Given the description of an element on the screen output the (x, y) to click on. 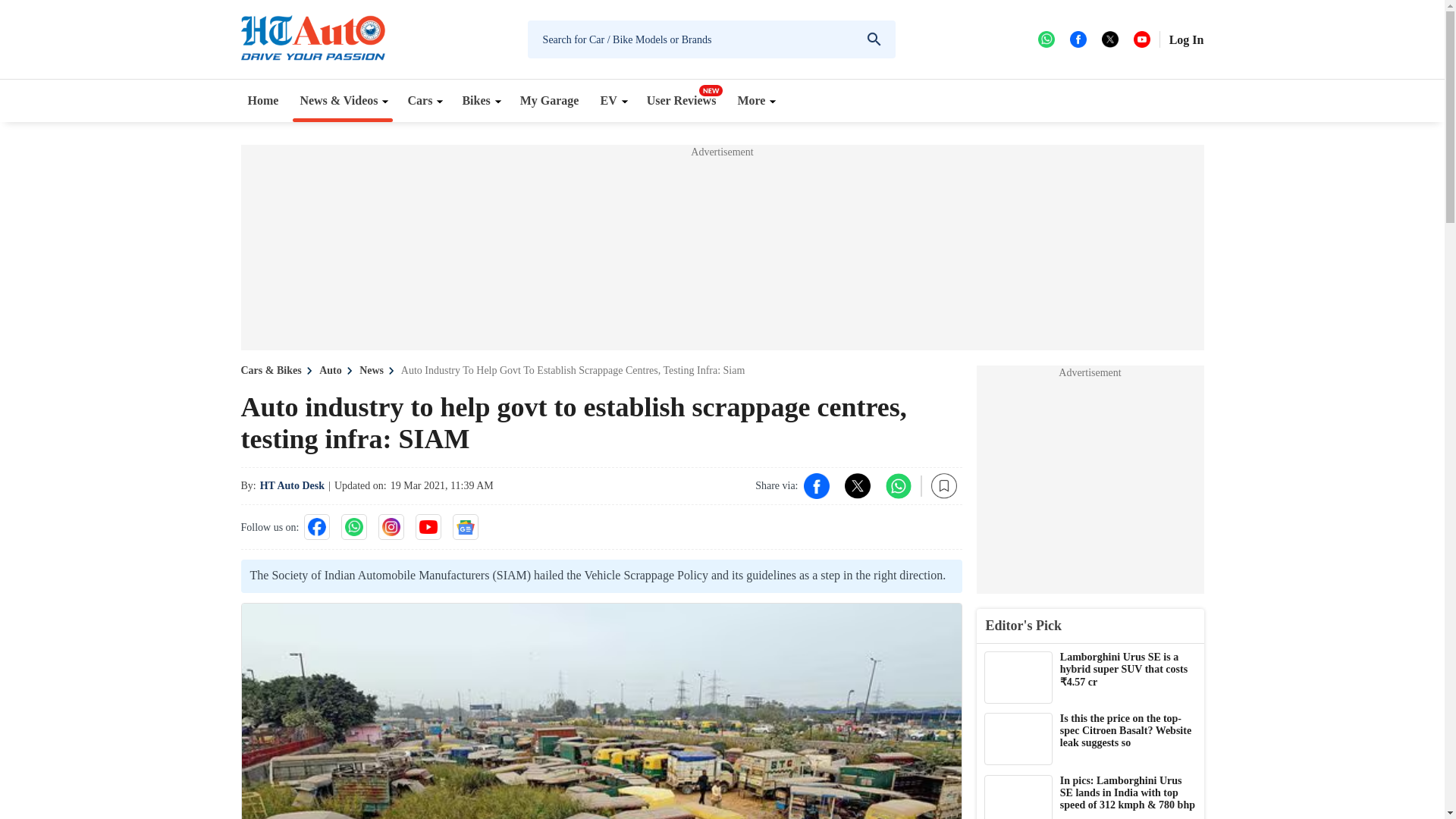
My Garage (549, 100)
Facebook Share (816, 485)
EV (611, 100)
Cars (423, 100)
Home (263, 100)
Log In (1186, 39)
Bikes (479, 100)
Tweet (857, 485)
